Given the description of an element on the screen output the (x, y) to click on. 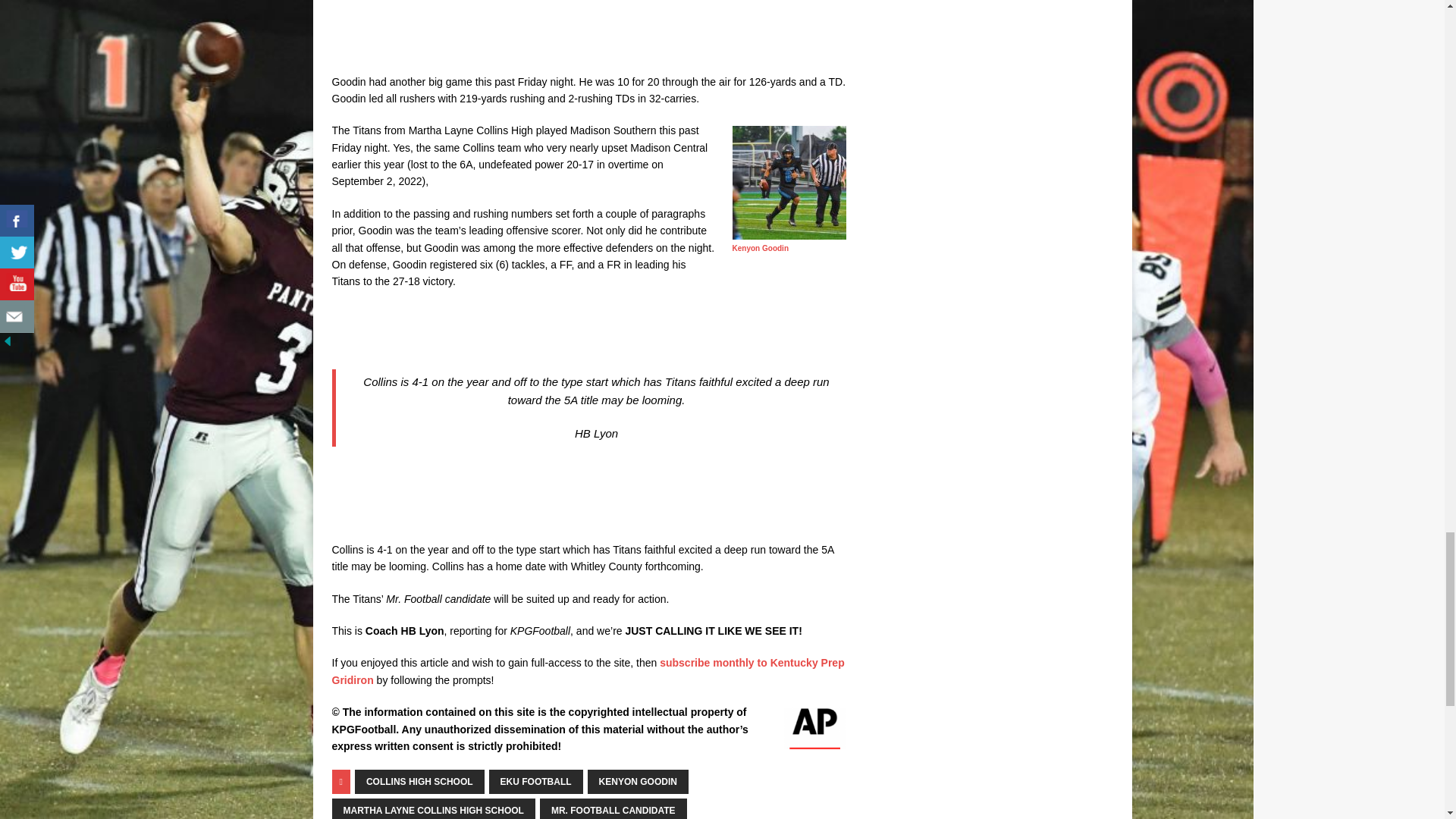
Kenyon Goodin (760, 248)
subscribe monthly to Kentucky Prep Gridiron (587, 670)
KENYON GOODIN (638, 781)
MARTHA LAYNE COLLINS HIGH SCHOOL (433, 808)
MR. FOOTBALL CANDIDATE (613, 808)
COLLINS HIGH SCHOOL (419, 781)
EKU FOOTBALL (536, 781)
